Given the description of an element on the screen output the (x, y) to click on. 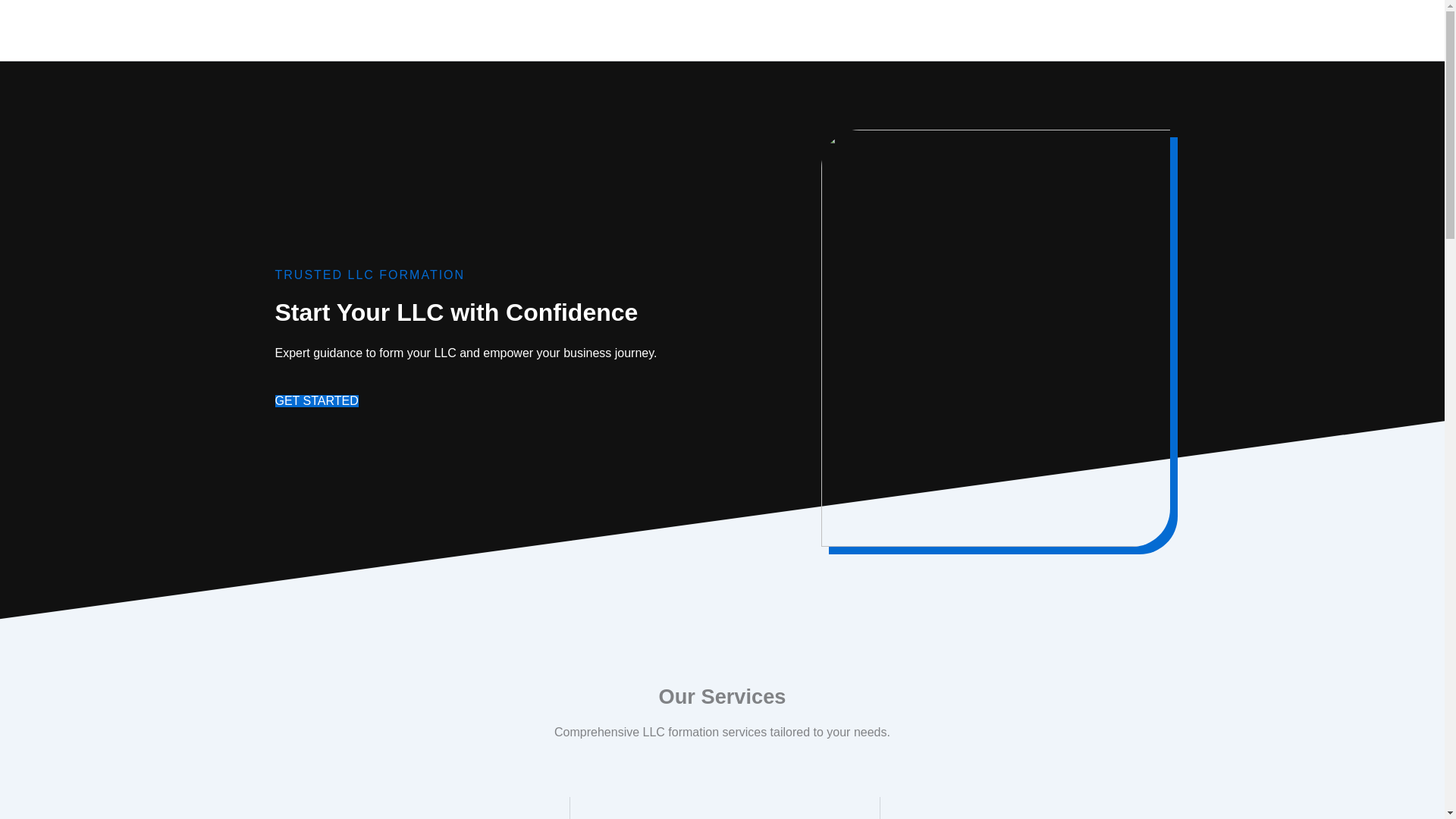
Contact Us (1387, 30)
Privacy Policy (1096, 30)
Home (1018, 30)
GET STARTED (316, 400)
About Us (1184, 30)
Affiliate Disclosure (1283, 30)
Create Your Own LLC (115, 29)
